Given the description of an element on the screen output the (x, y) to click on. 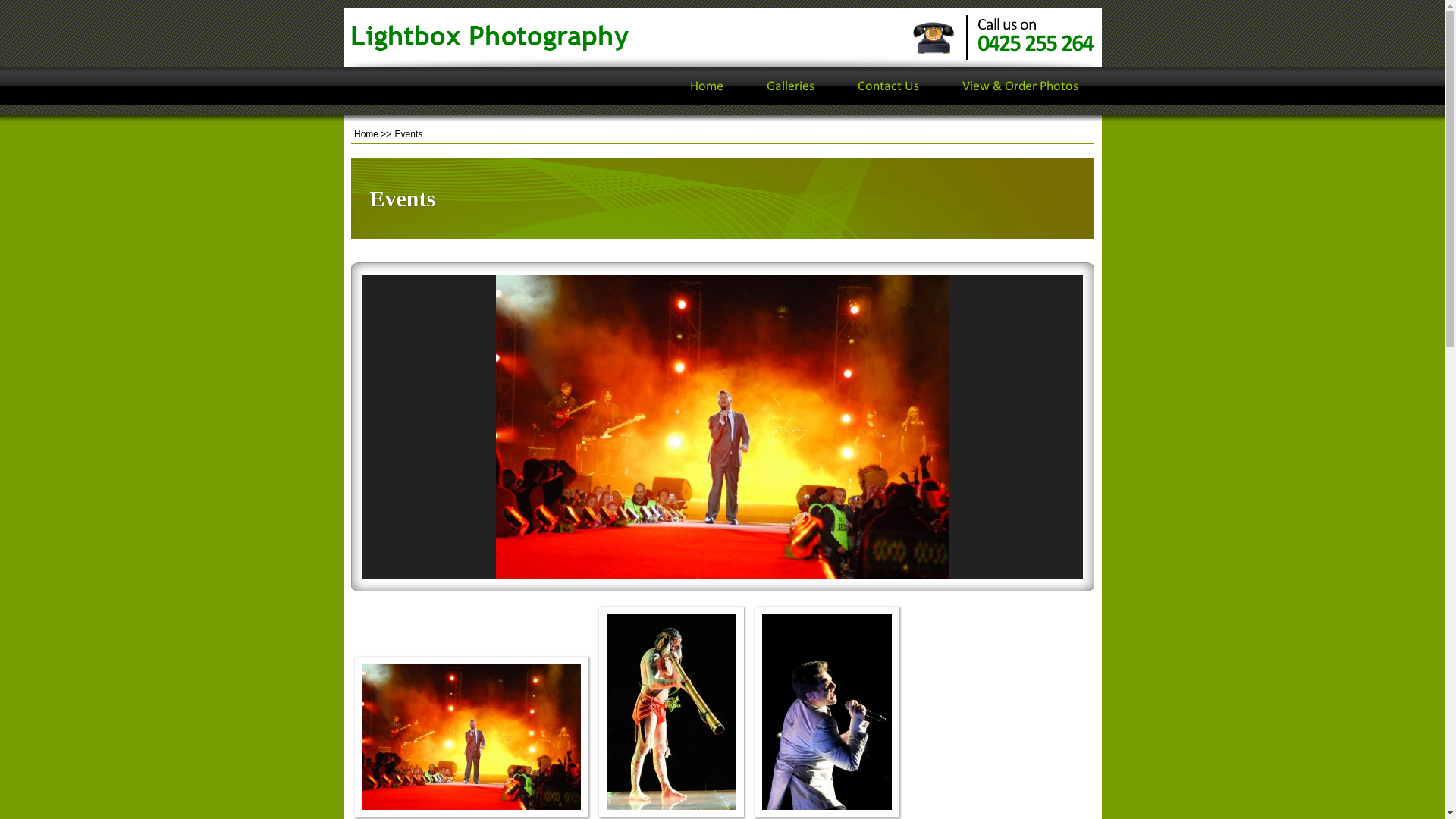
Home Element type: text (366, 133)
Home Element type: text (706, 86)
Lightbox Photography Element type: text (489, 36)
Contact Us Element type: text (887, 86)
View & Order Photos Element type: text (1019, 86)
Galleries Element type: text (789, 86)
